Given the description of an element on the screen output the (x, y) to click on. 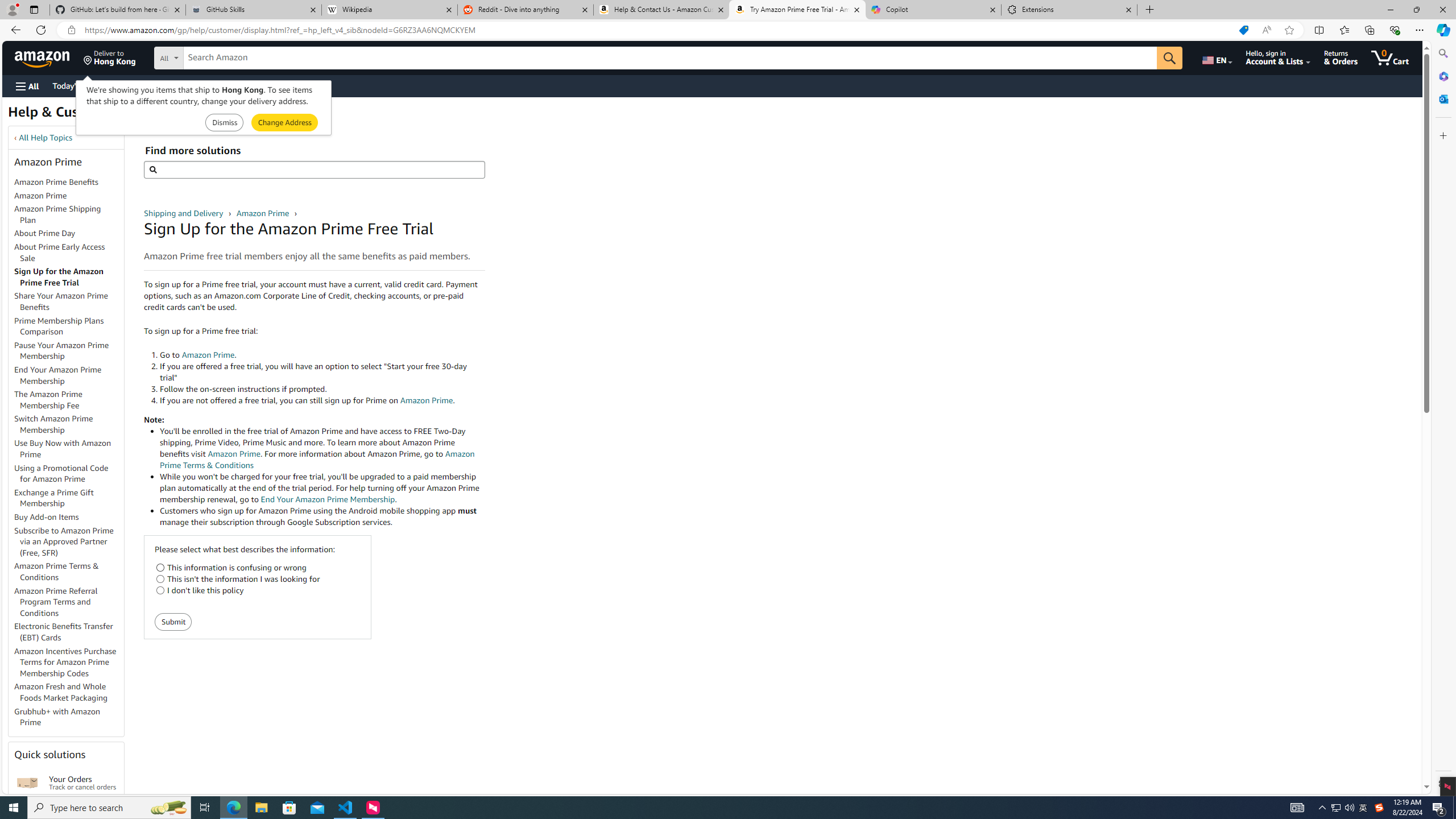
Customer Service (145, 85)
Grubhub+ with Amazon Prime (68, 716)
Your Orders Track or cancel orders (82, 782)
Amazon Fresh and Whole Foods Market Packaging (60, 691)
Hello, sign in Account & Lists (1278, 57)
Amazon Prime Referral Program Terms and Conditions (68, 602)
Switch Amazon Prime Membership (53, 423)
Submit (173, 621)
